Given the description of an element on the screen output the (x, y) to click on. 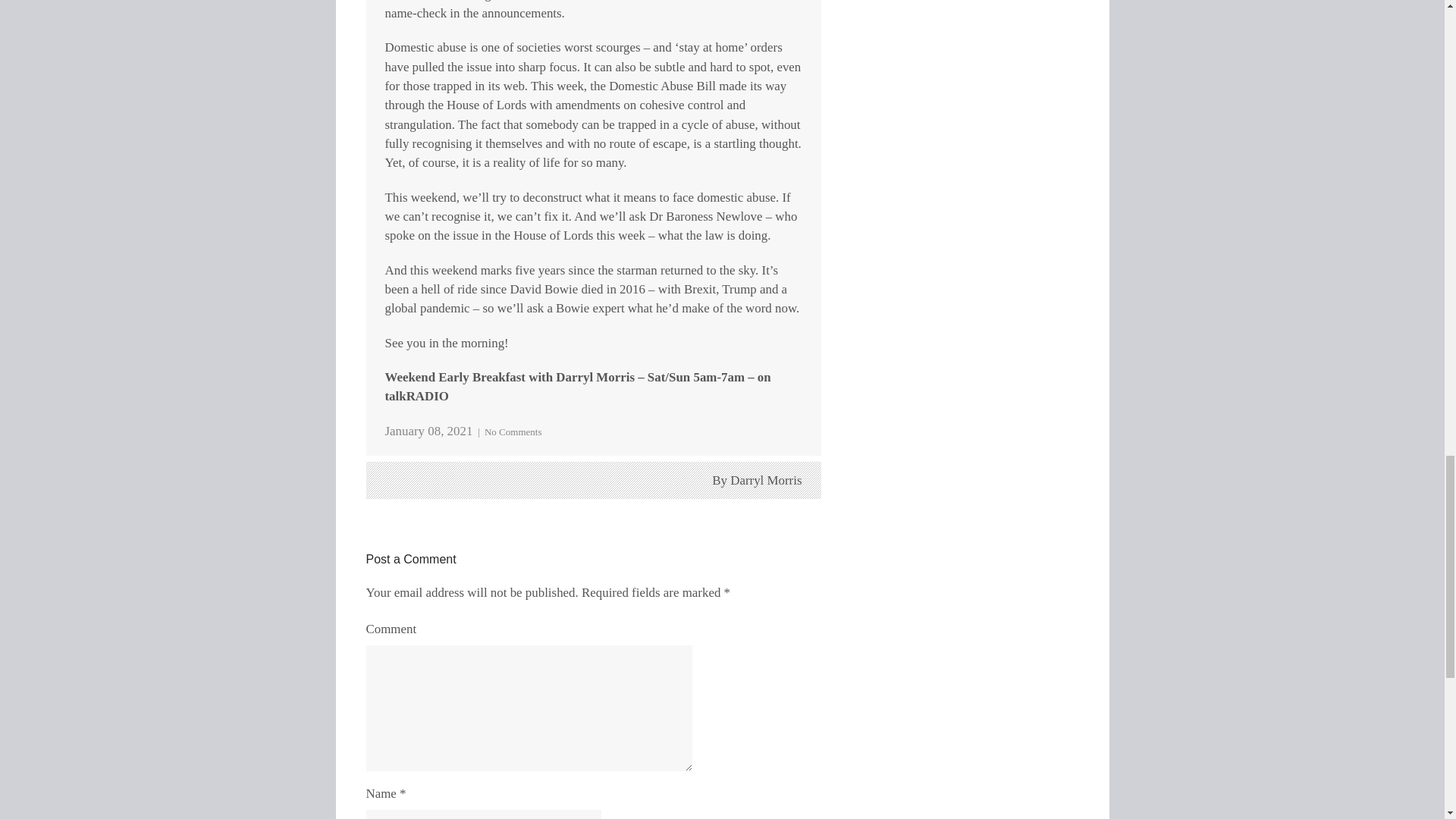
By Darryl Morris (756, 480)
No Comments (512, 431)
